Given the description of an element on the screen output the (x, y) to click on. 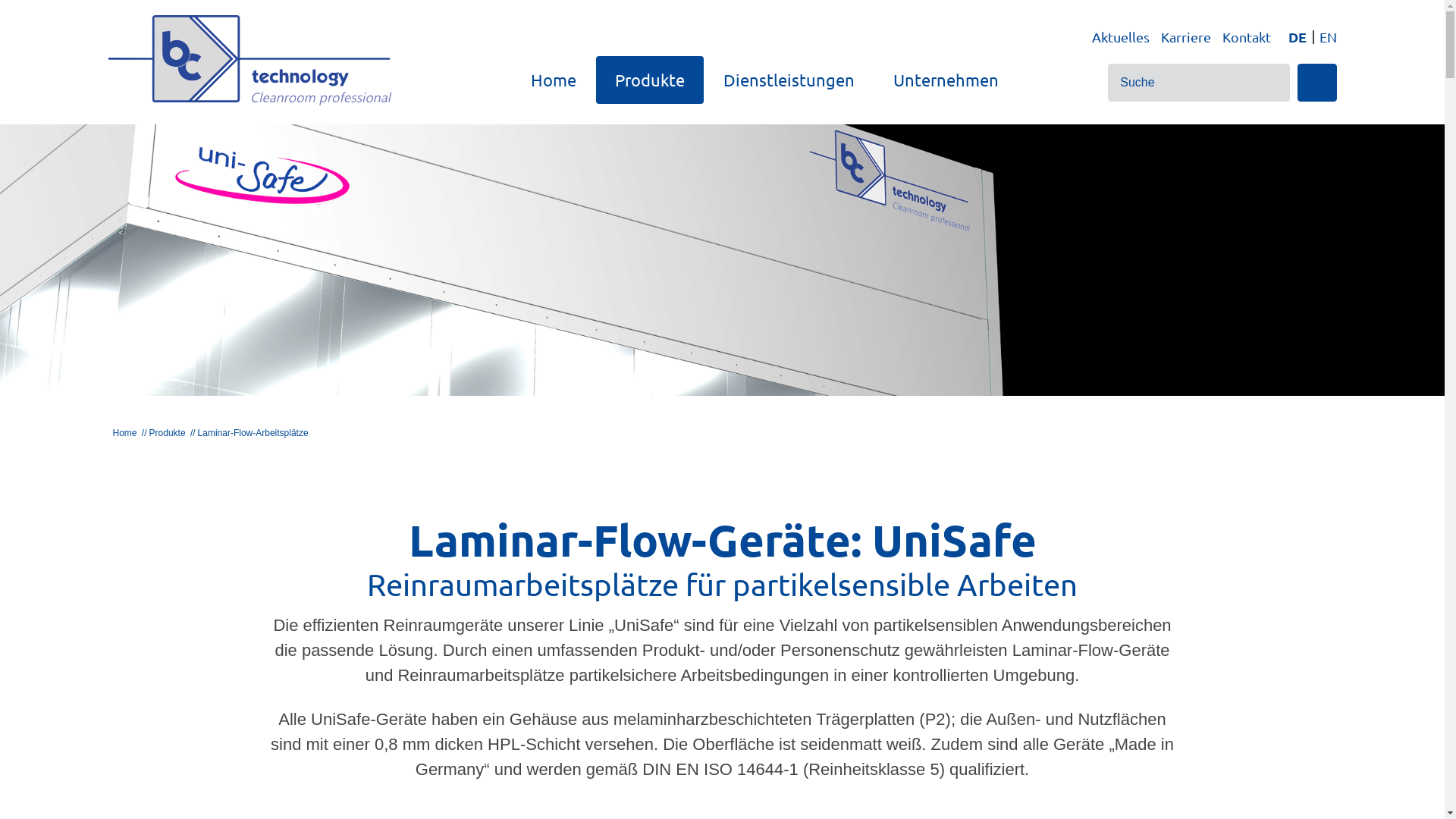
Aktuelles Element type: text (1120, 36)
EN Element type: text (1326, 36)
Dienstleistungen Element type: text (788, 79)
Demoseite TYPO3-Basis-Template Element type: hover (249, 60)
Produkte Element type: text (649, 79)
Suche Element type: hover (1316, 82)
Home Element type: text (121, 432)
Unternehmen Element type: text (945, 79)
Karriere Element type: text (1185, 36)
Produkte Element type: text (162, 432)
Kontakt Element type: text (1246, 36)
Home Element type: text (553, 79)
DE Element type: text (1297, 36)
